Given the description of an element on the screen output the (x, y) to click on. 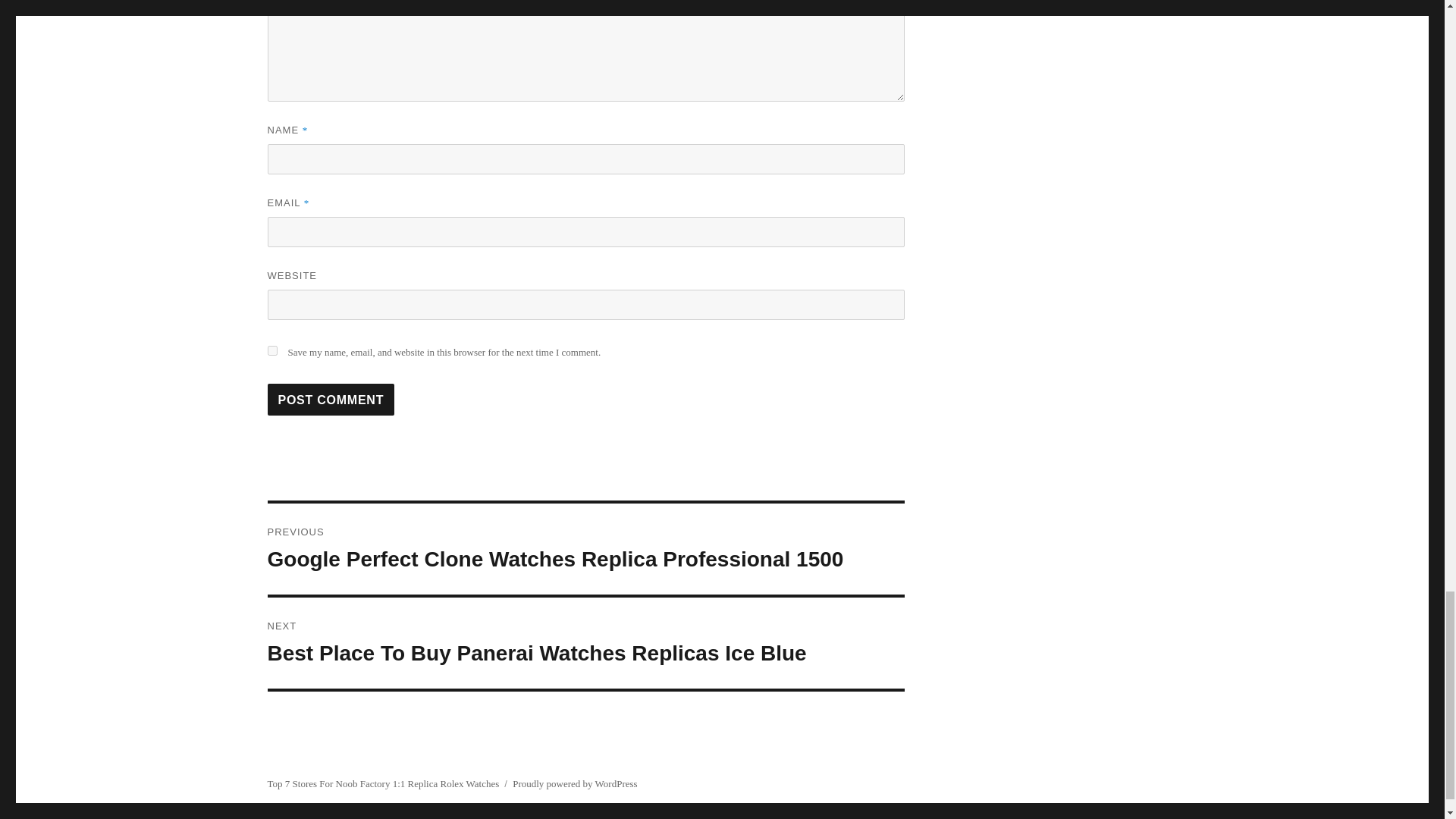
Post Comment (330, 399)
yes (271, 350)
Post Comment (330, 399)
